Given the description of an element on the screen output the (x, y) to click on. 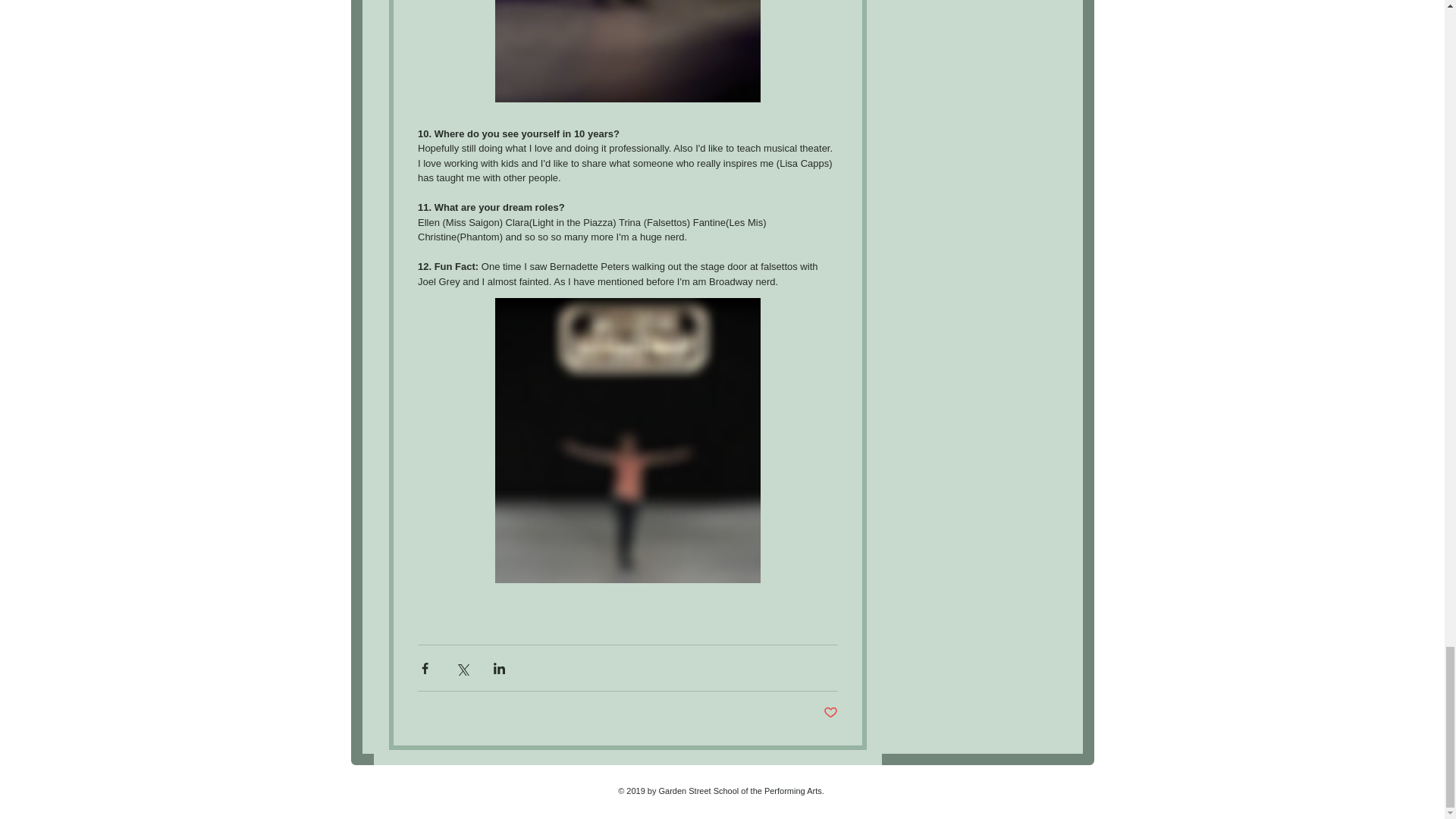
Post not marked as liked (831, 713)
